Given the description of an element on the screen output the (x, y) to click on. 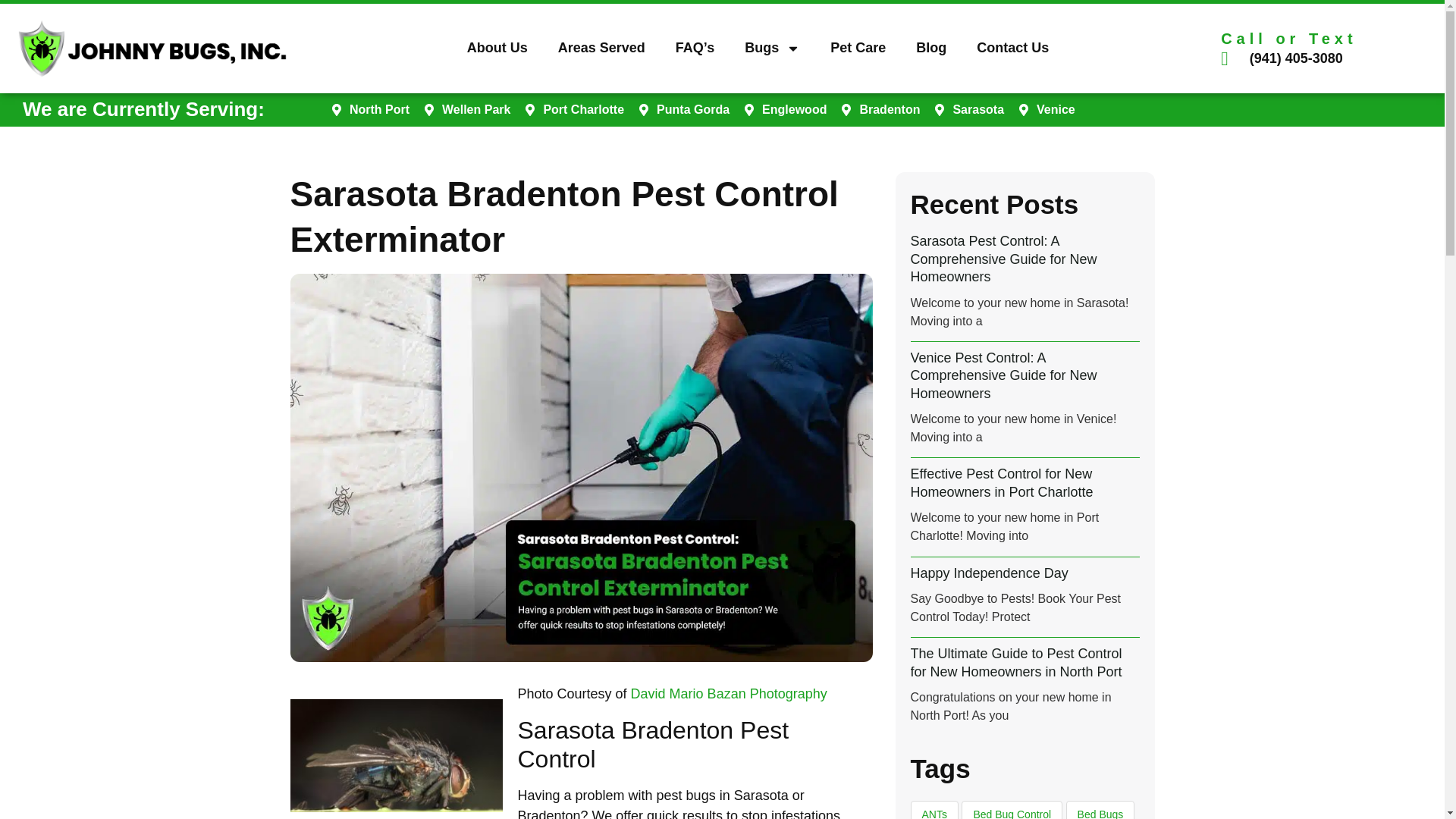
David Mario Bazan Photography (728, 693)
About Us (497, 47)
ANTs (934, 809)
Blog (930, 47)
Pet Care (858, 47)
Areas Served (602, 47)
Effective Pest Control for New Homeowners in Port Charlotte (1001, 482)
Bed Bug Control (1011, 809)
